Given the description of an element on the screen output the (x, y) to click on. 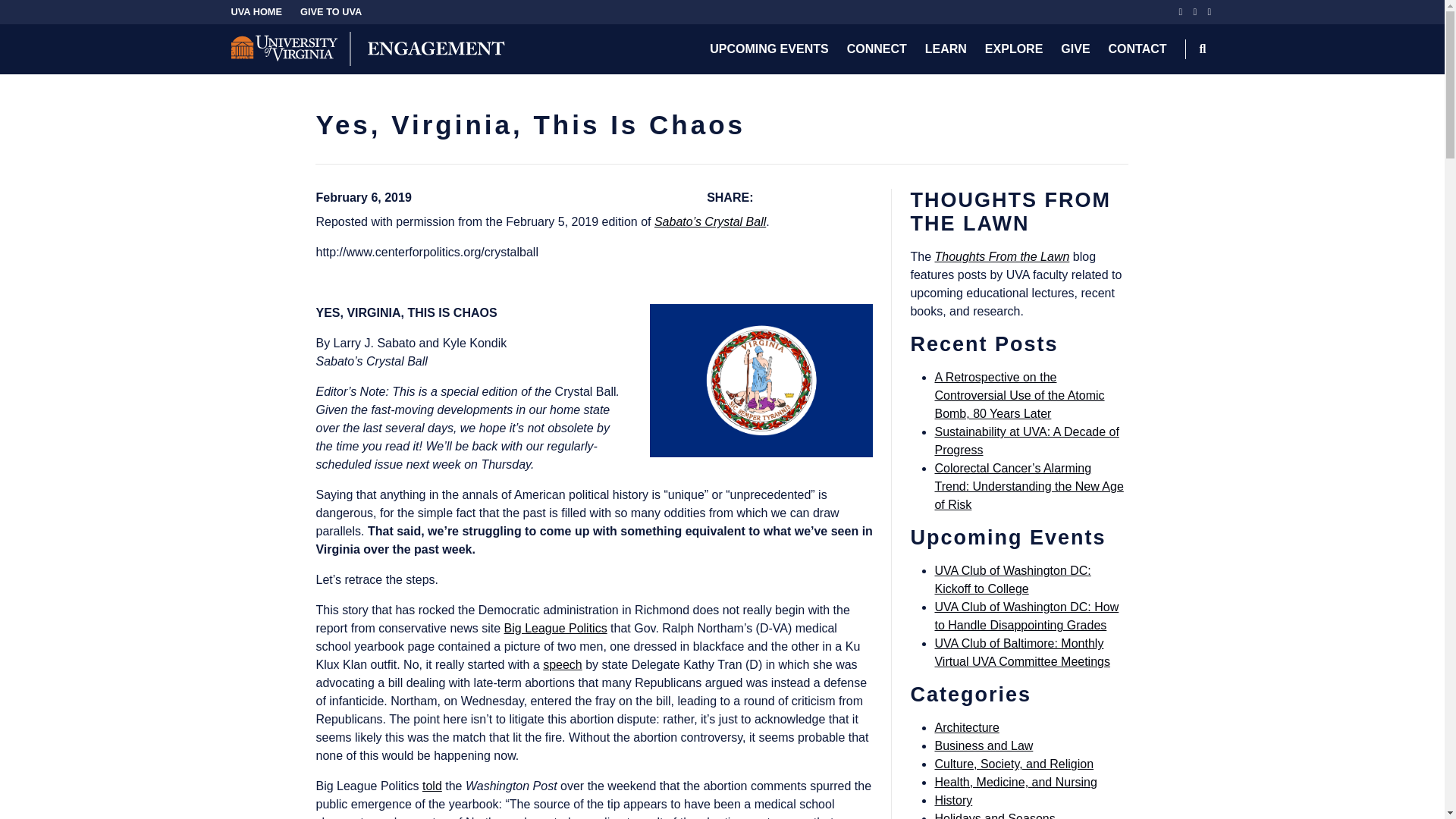
GIVE TO UVA (330, 11)
UVA HOME (256, 11)
LEARN (945, 48)
EXPLORE (1013, 48)
GIVE (1075, 48)
speech (562, 664)
Big League Politics (555, 627)
CONNECT (877, 48)
UPCOMING EVENTS (769, 48)
